Given the description of an element on the screen output the (x, y) to click on. 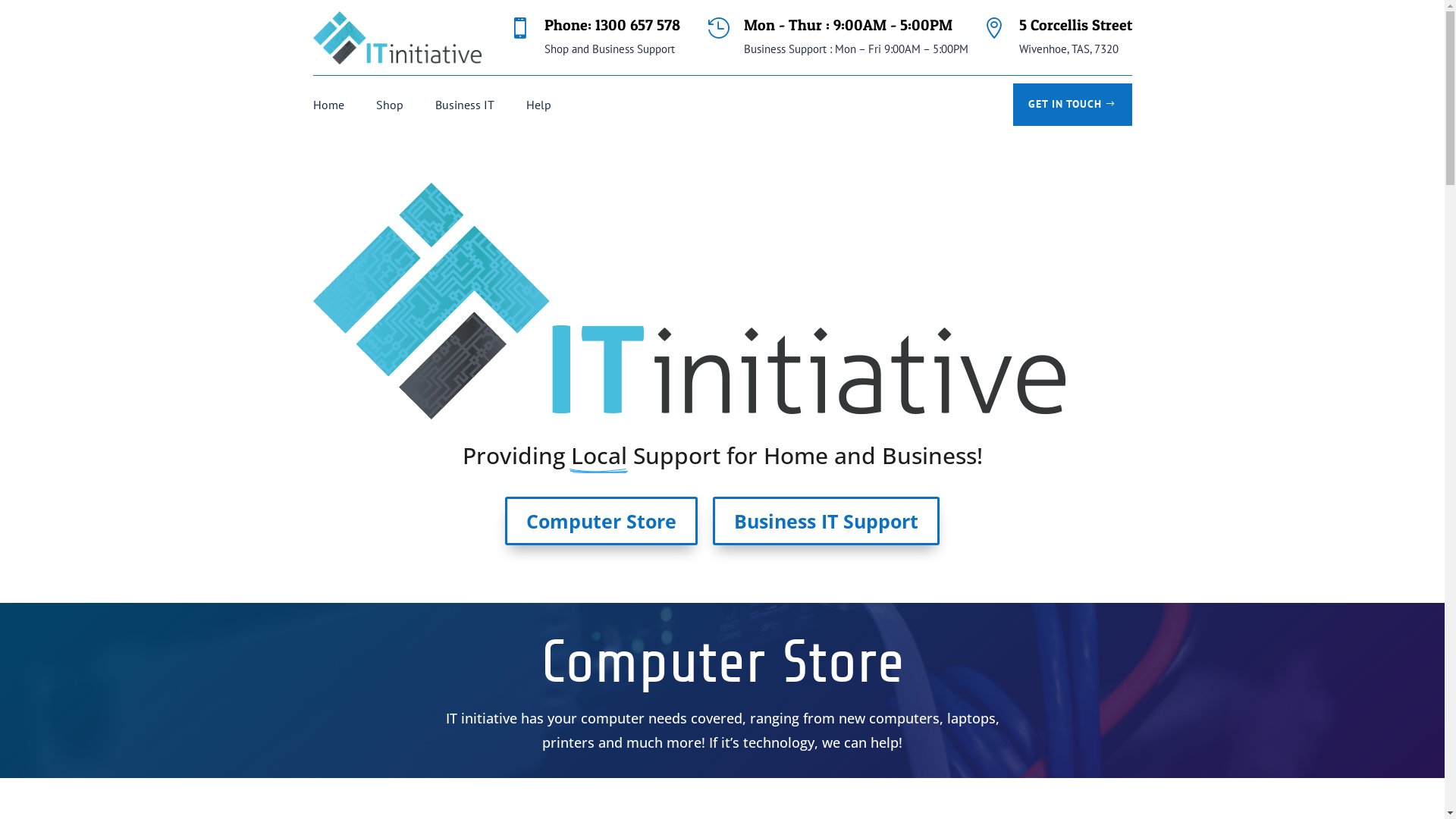
Help Element type: text (538, 107)
Home Element type: text (327, 107)
Shop Element type: text (389, 107)
ITINIT~1 Element type: hover (688, 300)
ITINIT~1 Element type: hover (396, 37)
Computer Store Element type: text (601, 520)
GET IN TOUCH Element type: text (1072, 104)
Business IT Support Element type: text (825, 520)
Business IT Element type: text (464, 107)
